Given the description of an element on the screen output the (x, y) to click on. 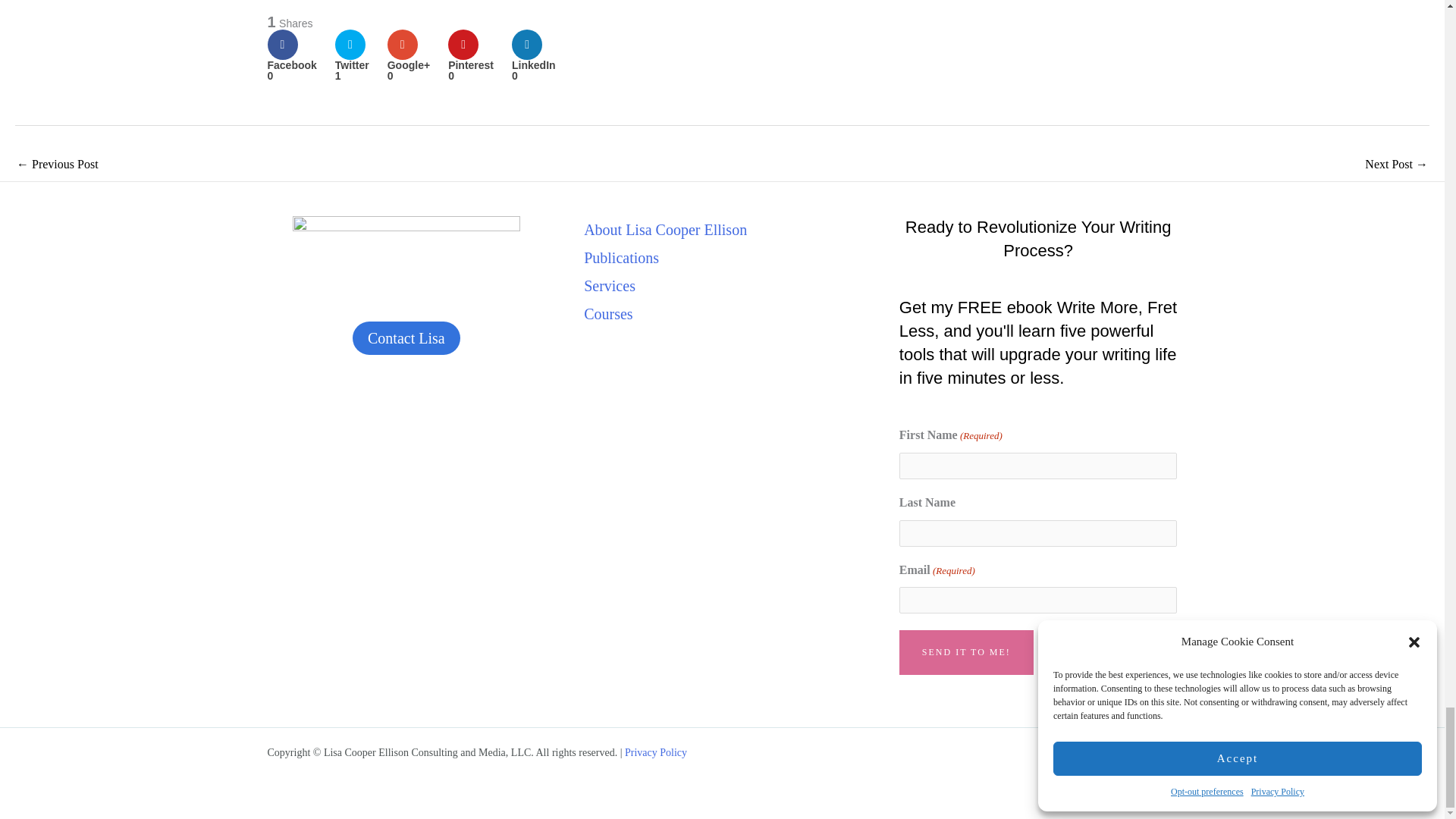
Send it to me! (966, 651)
